Given the description of an element on the screen output the (x, y) to click on. 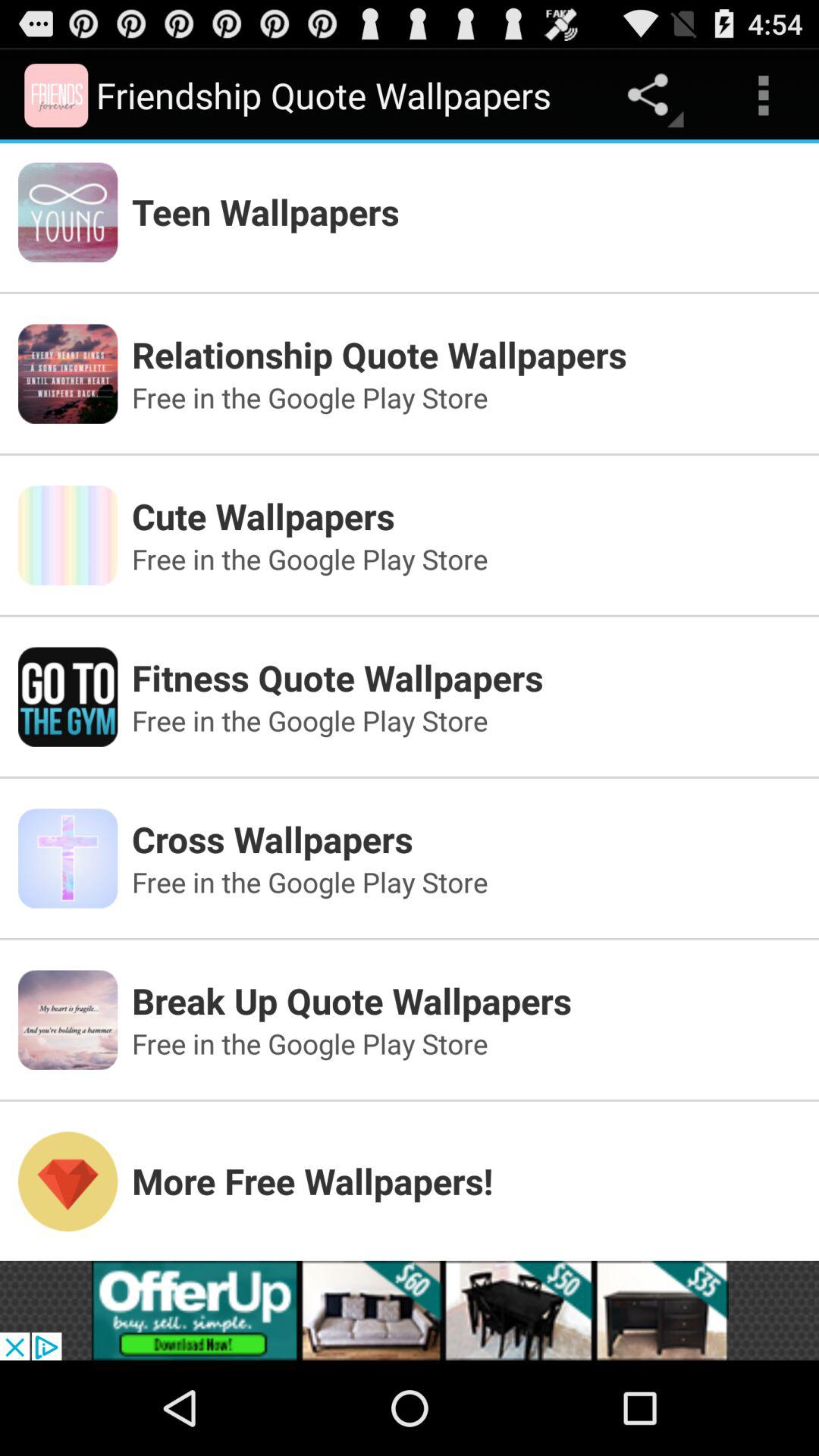
move to the image which is left to text fitness quote wallpapers (67, 697)
